Given the description of an element on the screen output the (x, y) to click on. 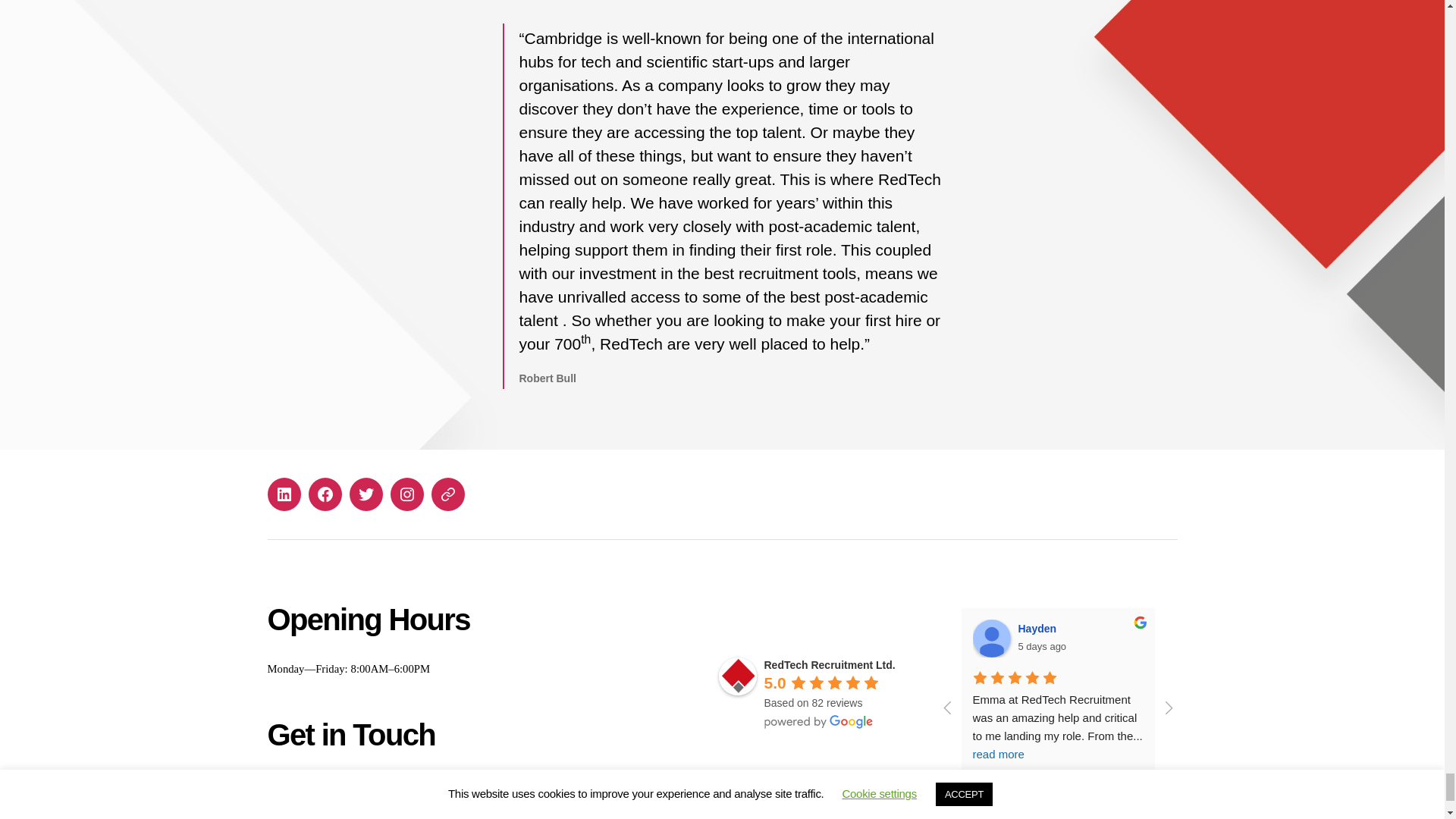
Hayden (991, 638)
powered by Google (818, 721)
RedTech Recruitment Ltd. (738, 676)
Jack Holden (1200, 638)
Vlad (1407, 638)
